Given the description of an element on the screen output the (x, y) to click on. 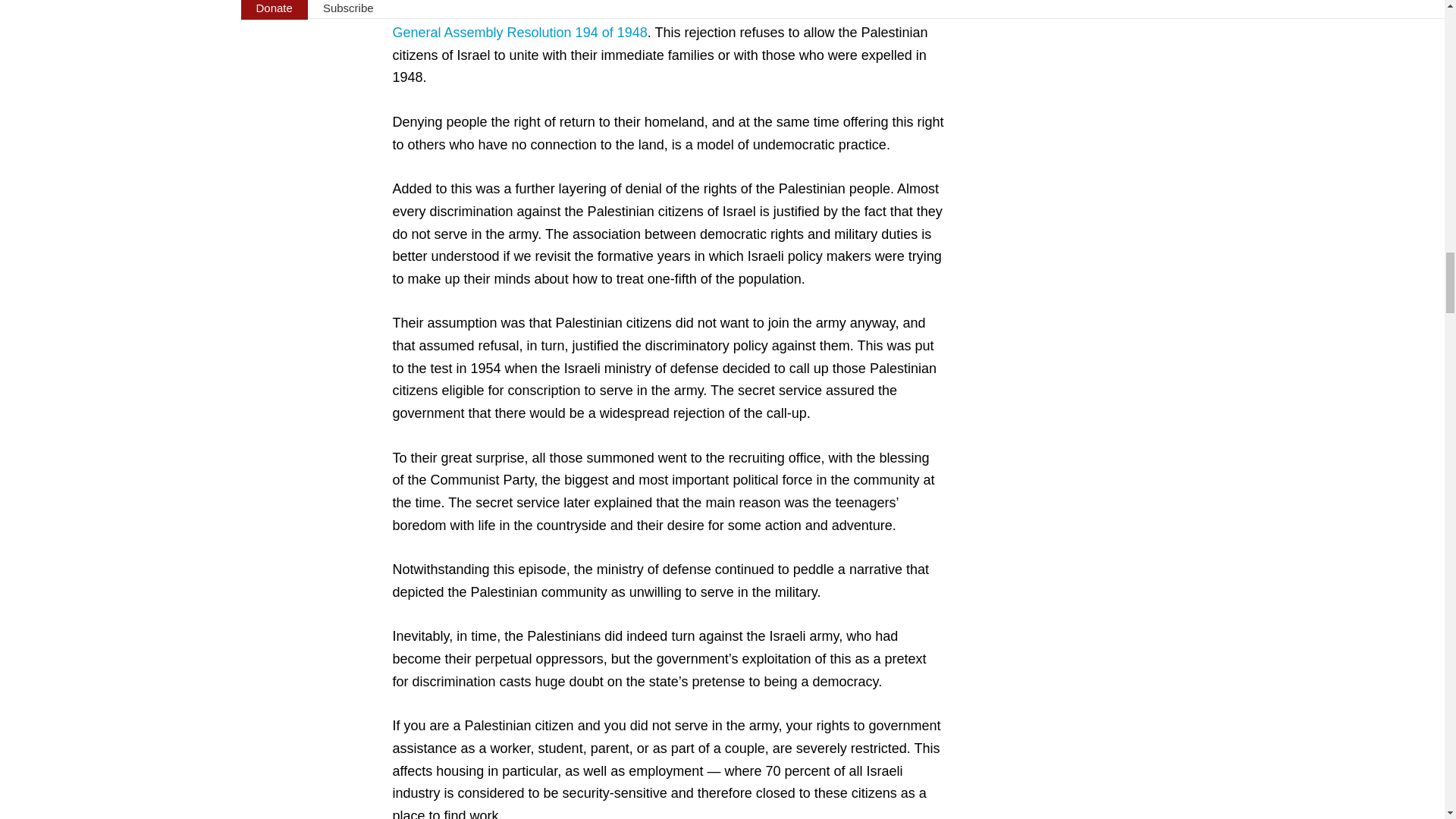
UN General Assembly Resolution 194 of 1948 (650, 21)
